Given the description of an element on the screen output the (x, y) to click on. 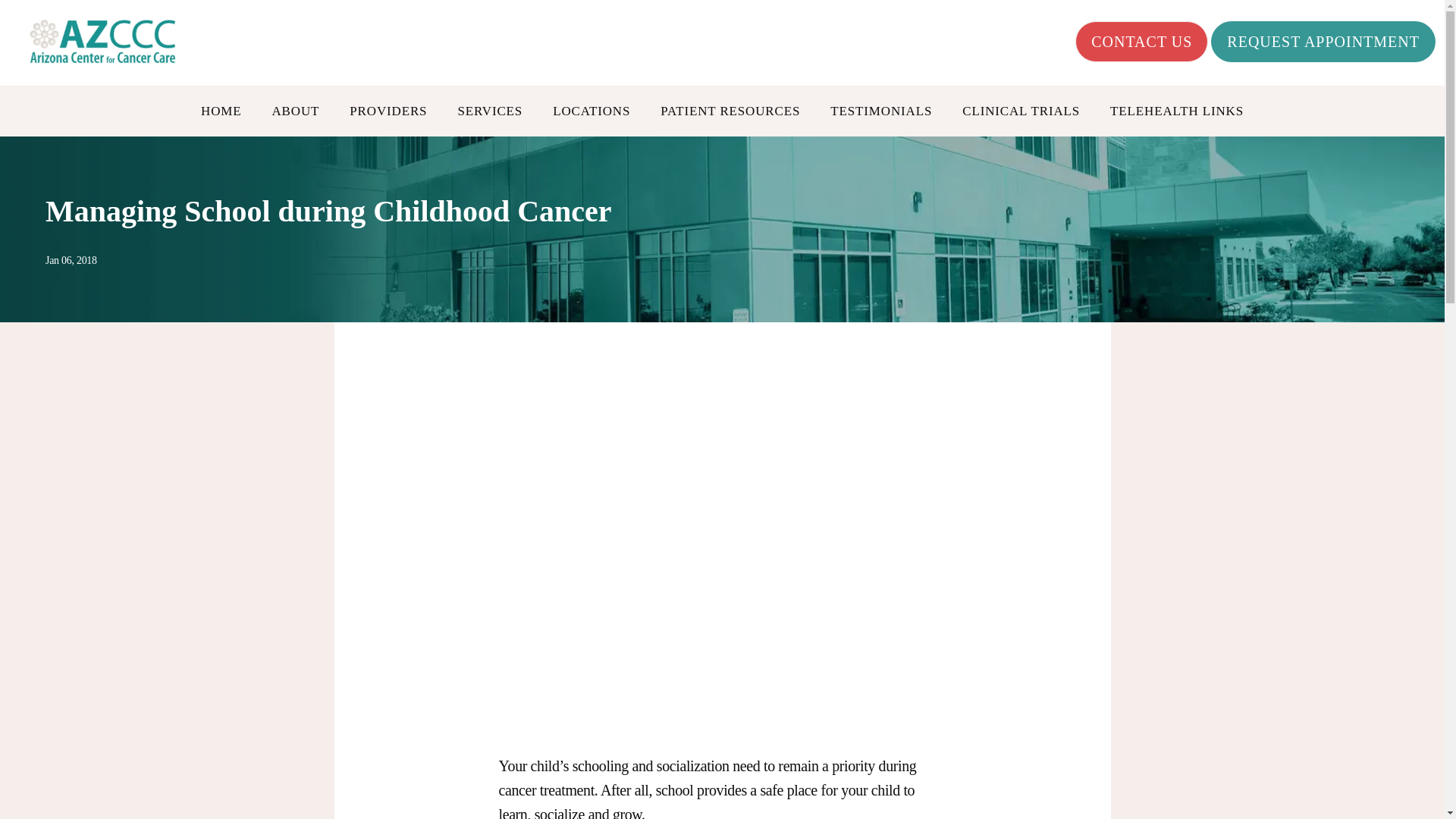
CLINICAL TRIALS (1021, 110)
PATIENT RESOURCES (730, 110)
LOCATIONS (591, 110)
CONTACT US (1141, 42)
TELEHEALTH LINKS (1176, 110)
HOME (220, 110)
REQUEST APPOINTMENT (1323, 42)
ABOUT (294, 110)
